Given the description of an element on the screen output the (x, y) to click on. 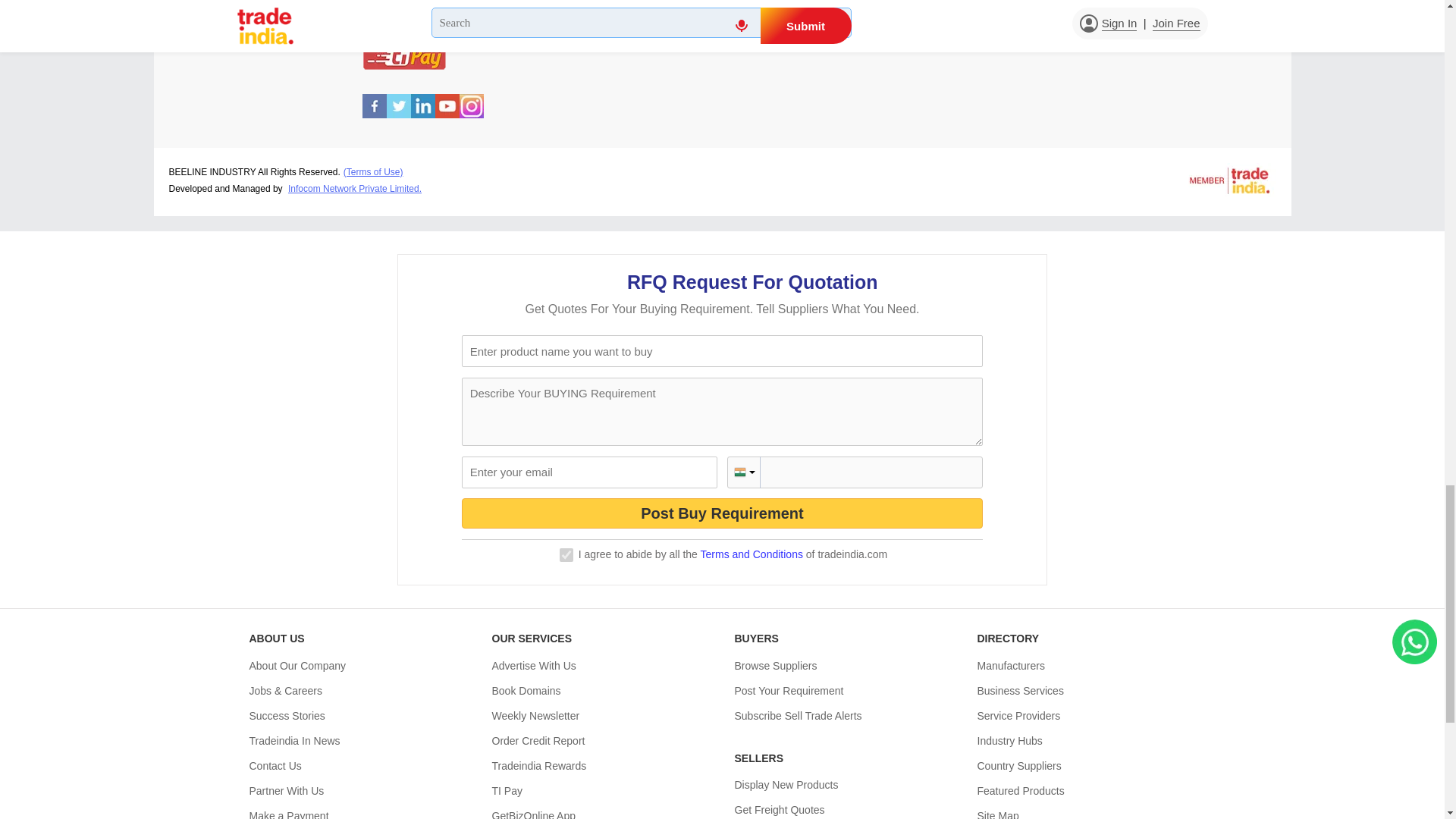
LinkedIn (422, 114)
Post Buy Requirement (722, 512)
Accepts payment through paypal (404, 31)
Accepts payment through paypal (404, 18)
Twitter (398, 114)
on (566, 554)
Instagram (471, 114)
Facebook (374, 114)
You Tube (447, 114)
